Given the description of an element on the screen output the (x, y) to click on. 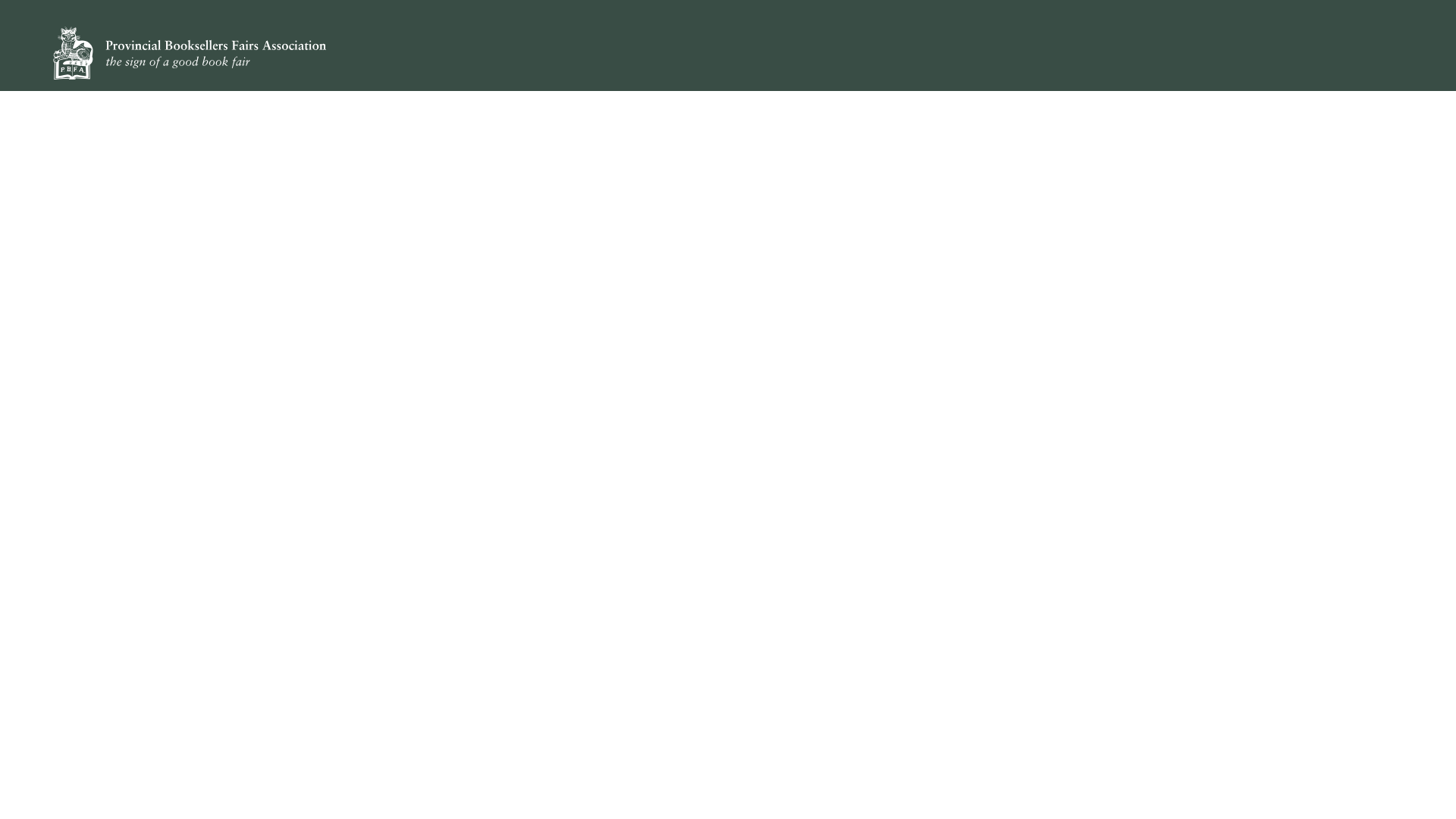
Home Page (189, 52)
